Given the description of an element on the screen output the (x, y) to click on. 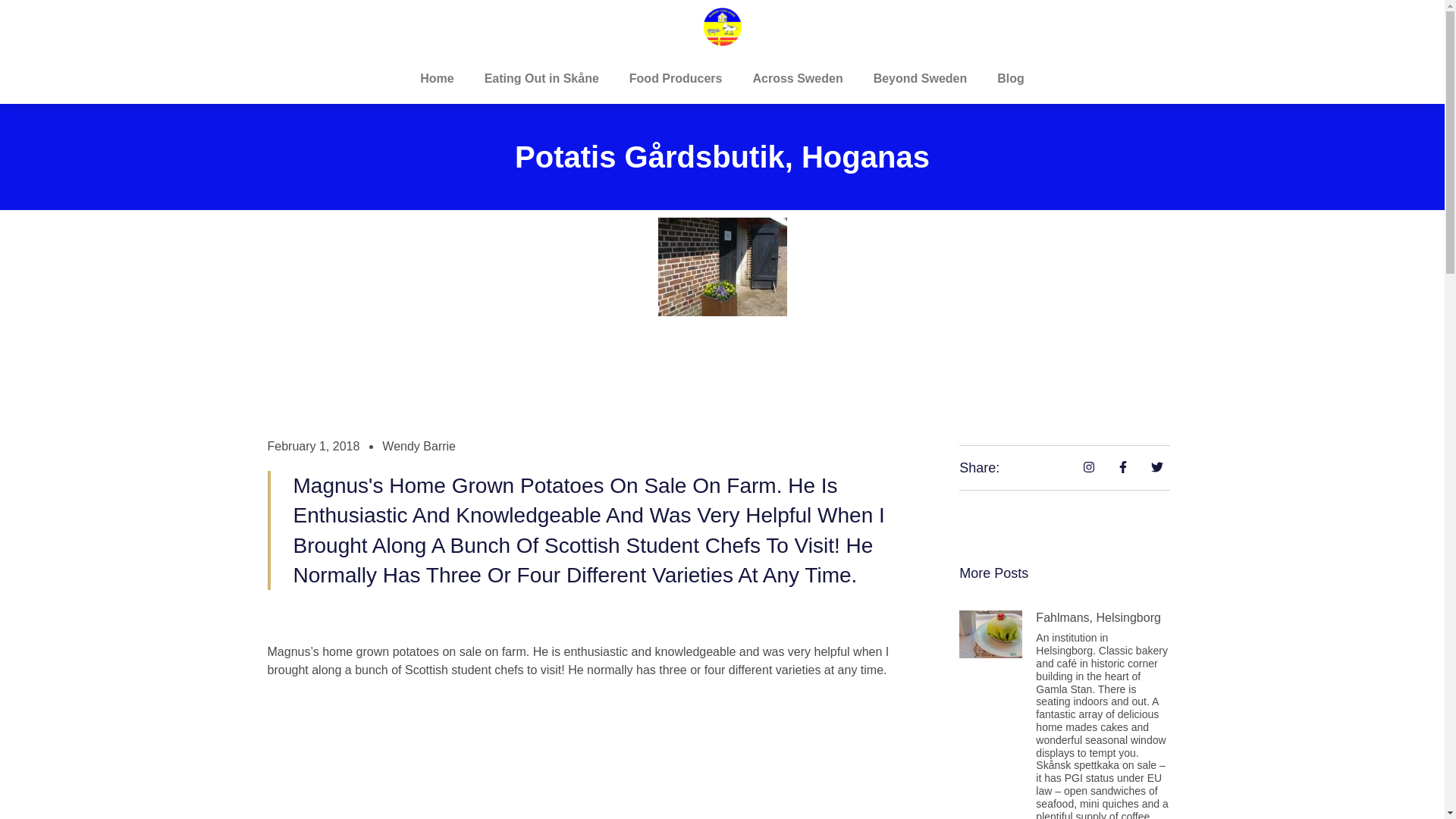
February 1, 2018 (312, 446)
Home (436, 78)
Fahlmans, Helsingborg (1097, 617)
Across Sweden (796, 78)
Wendy Barrie (418, 446)
Food Producers (676, 78)
Blog (1010, 78)
Beyond Sweden (920, 78)
